Given the description of an element on the screen output the (x, y) to click on. 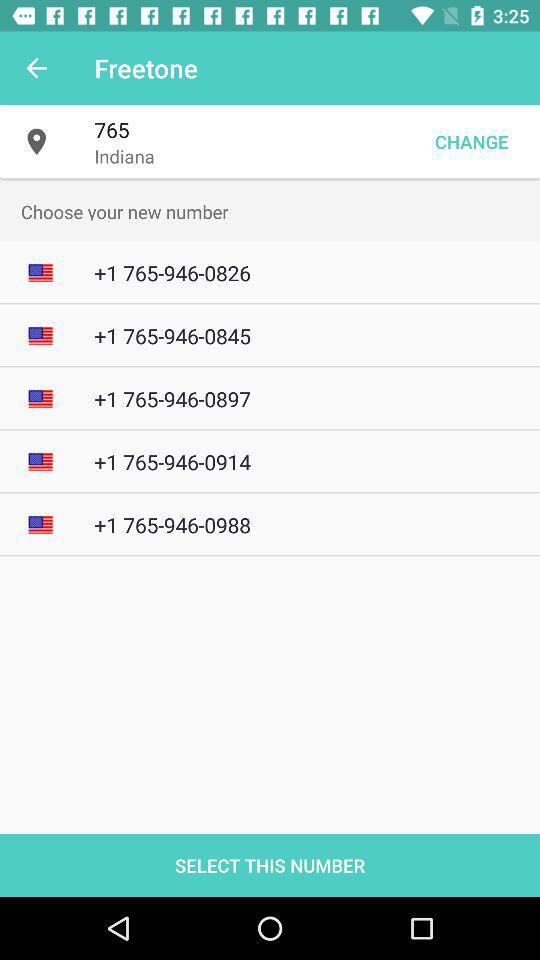
launch the change at the top right corner (471, 141)
